Given the description of an element on the screen output the (x, y) to click on. 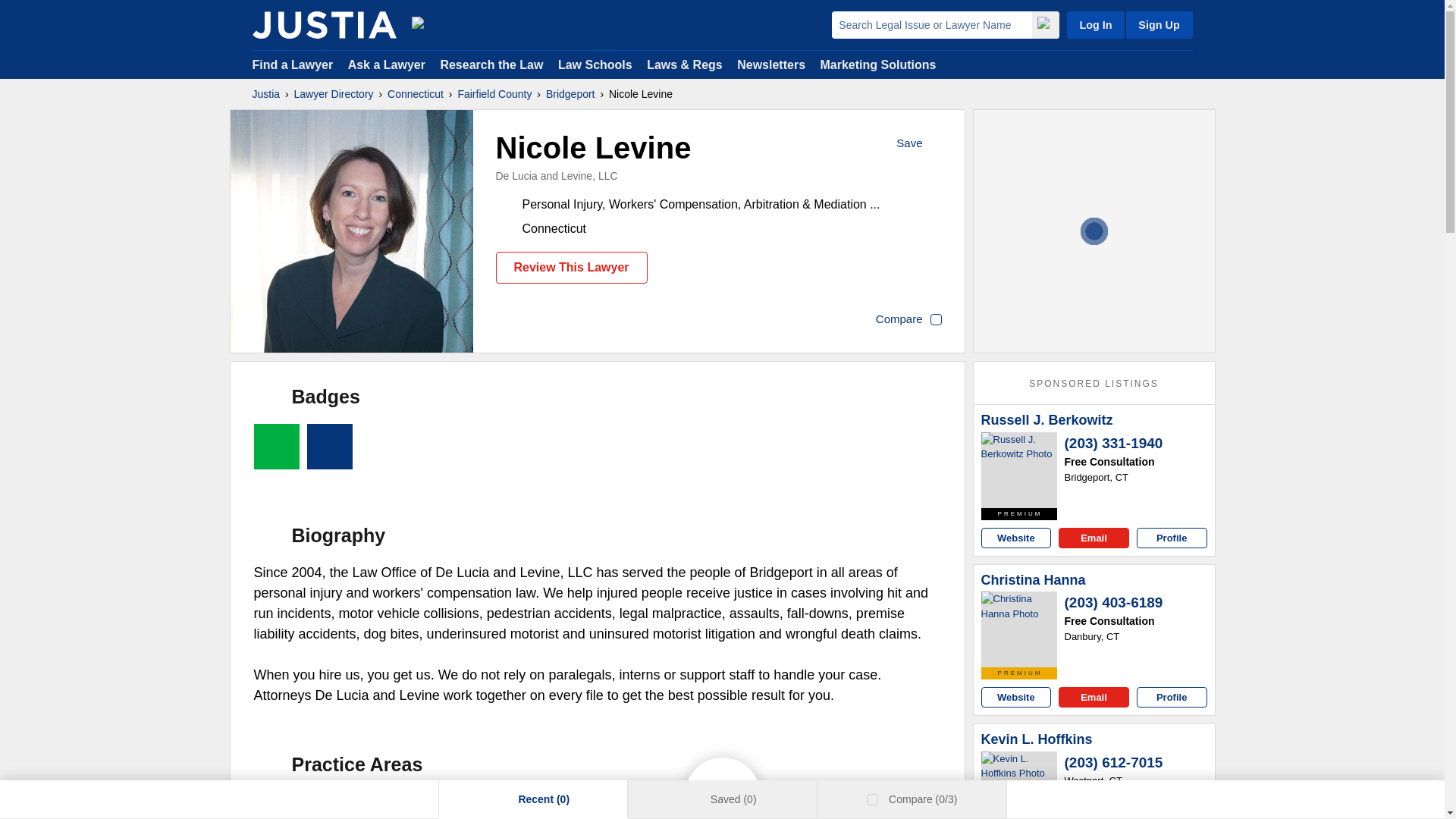
Connecticut (415, 93)
Bridgeport (570, 93)
Ask a Lawyer (388, 64)
Search (1044, 24)
Review This Lawyer (571, 267)
Russell J. Berkowitz (1047, 420)
Christina Hanna (1019, 629)
Lawyer Directory (334, 93)
Newsletters (770, 64)
Justia (265, 93)
Justia Lawyer Directory (323, 24)
Find a Lawyer (292, 64)
Compare (909, 319)
Nicole Levine (351, 230)
Log In (1094, 24)
